Given the description of an element on the screen output the (x, y) to click on. 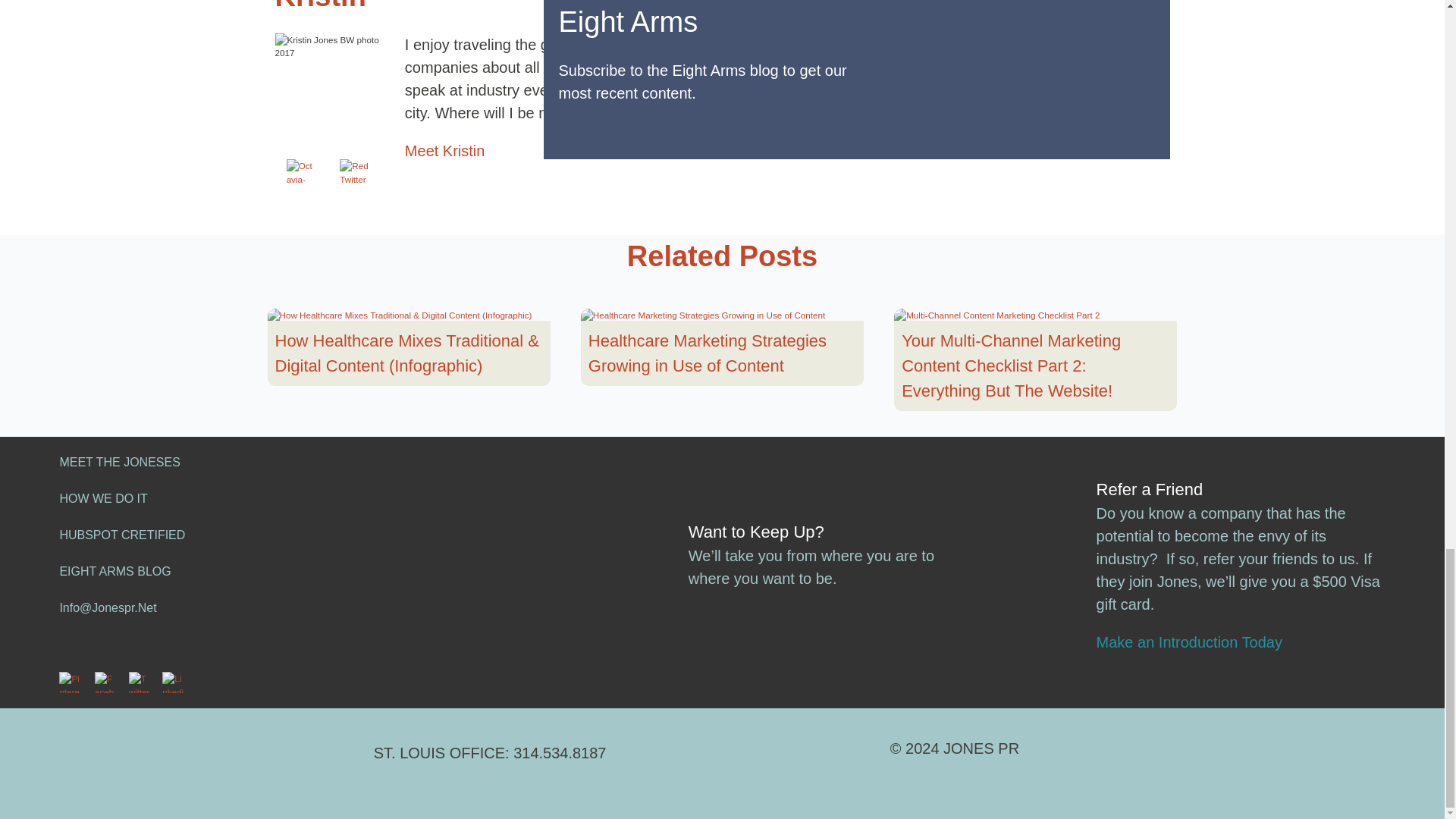
Meet Kristin (444, 150)
HOW WE DO IT (103, 498)
MEET THE JONESES (119, 461)
Healthcare Marketing Strategies Growing in Use of Content (722, 353)
HUBSPOT CRETIFIED (121, 534)
EIGHT ARMS BLOG (114, 571)
